Given the description of an element on the screen output the (x, y) to click on. 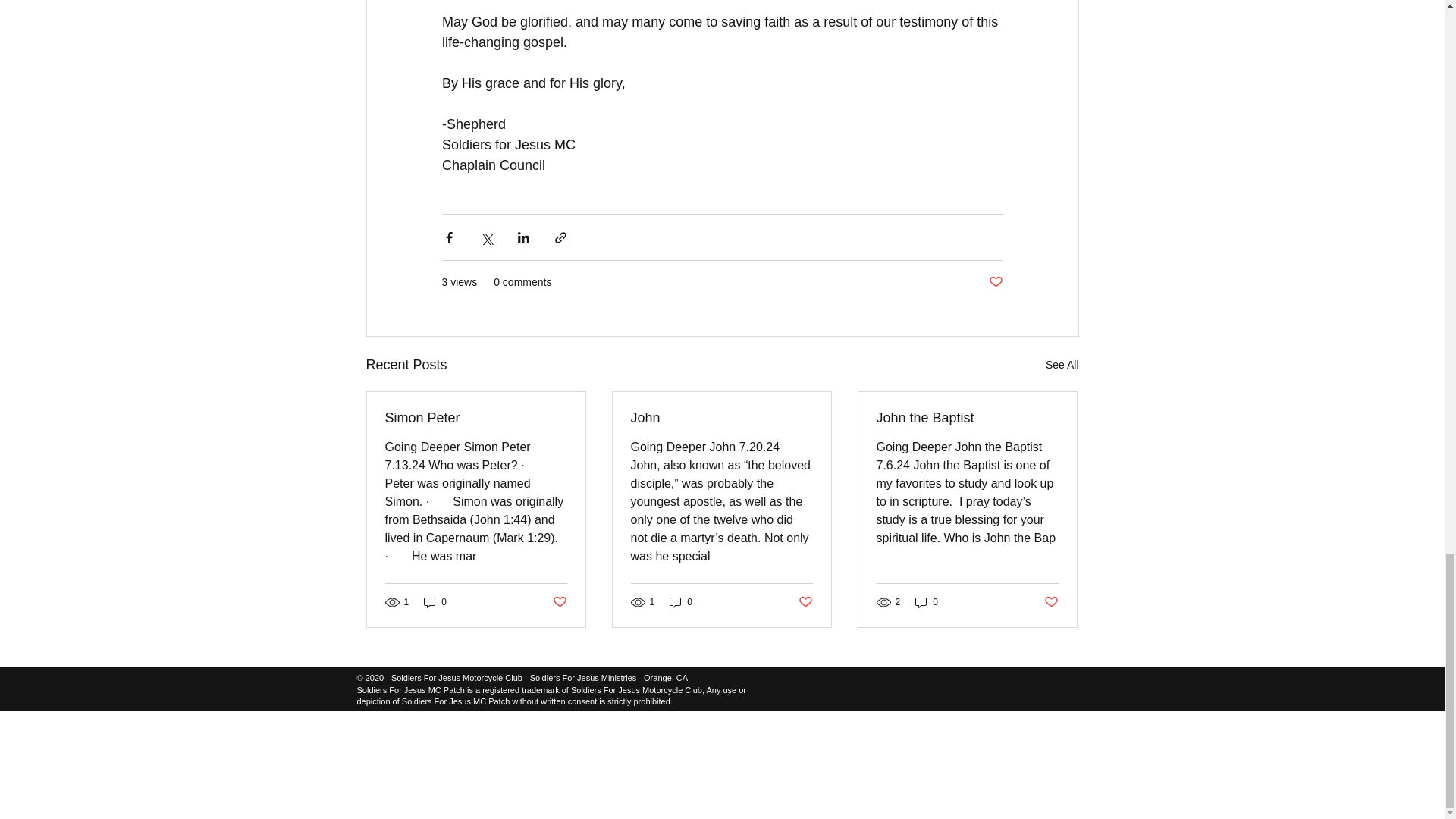
Post not marked as liked (804, 602)
0 (926, 602)
Post not marked as liked (995, 282)
0 (435, 602)
John the Baptist (967, 417)
0 (681, 602)
Post not marked as liked (558, 602)
Simon Peter (476, 417)
Post not marked as liked (1050, 602)
John (721, 417)
See All (1061, 364)
